Given the description of an element on the screen output the (x, y) to click on. 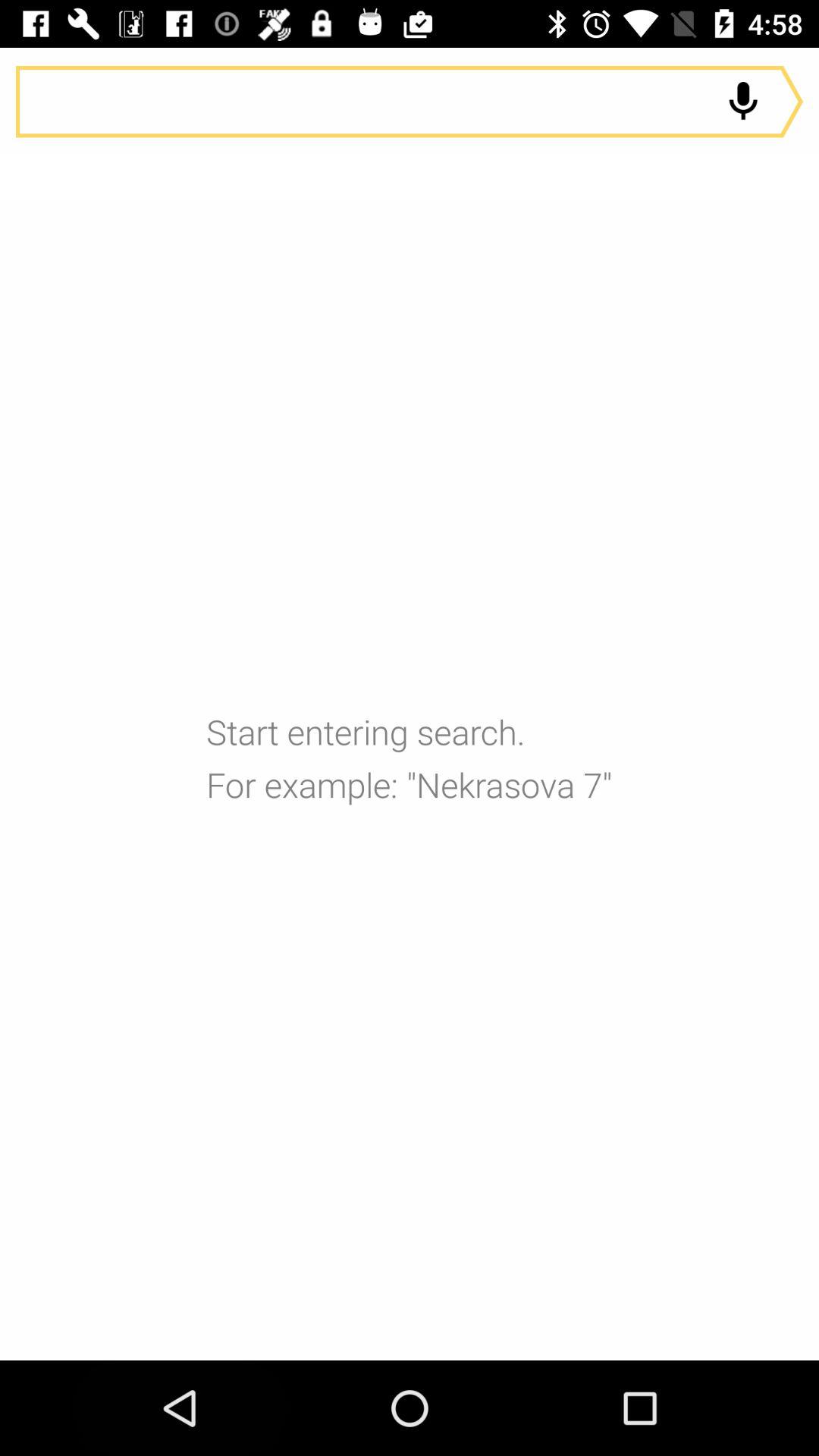
speak a command (409, 101)
